Given the description of an element on the screen output the (x, y) to click on. 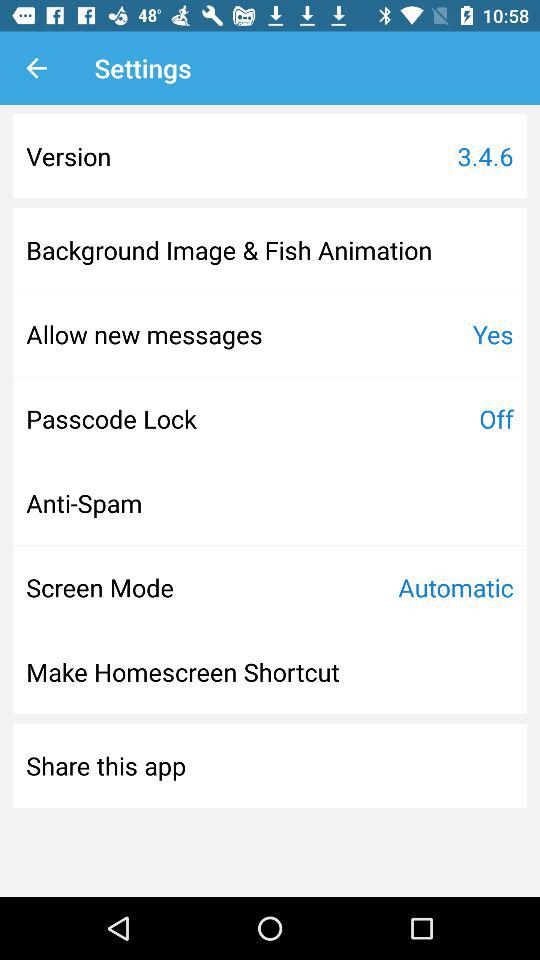
jump to allow new messages icon (144, 334)
